Given the description of an element on the screen output the (x, y) to click on. 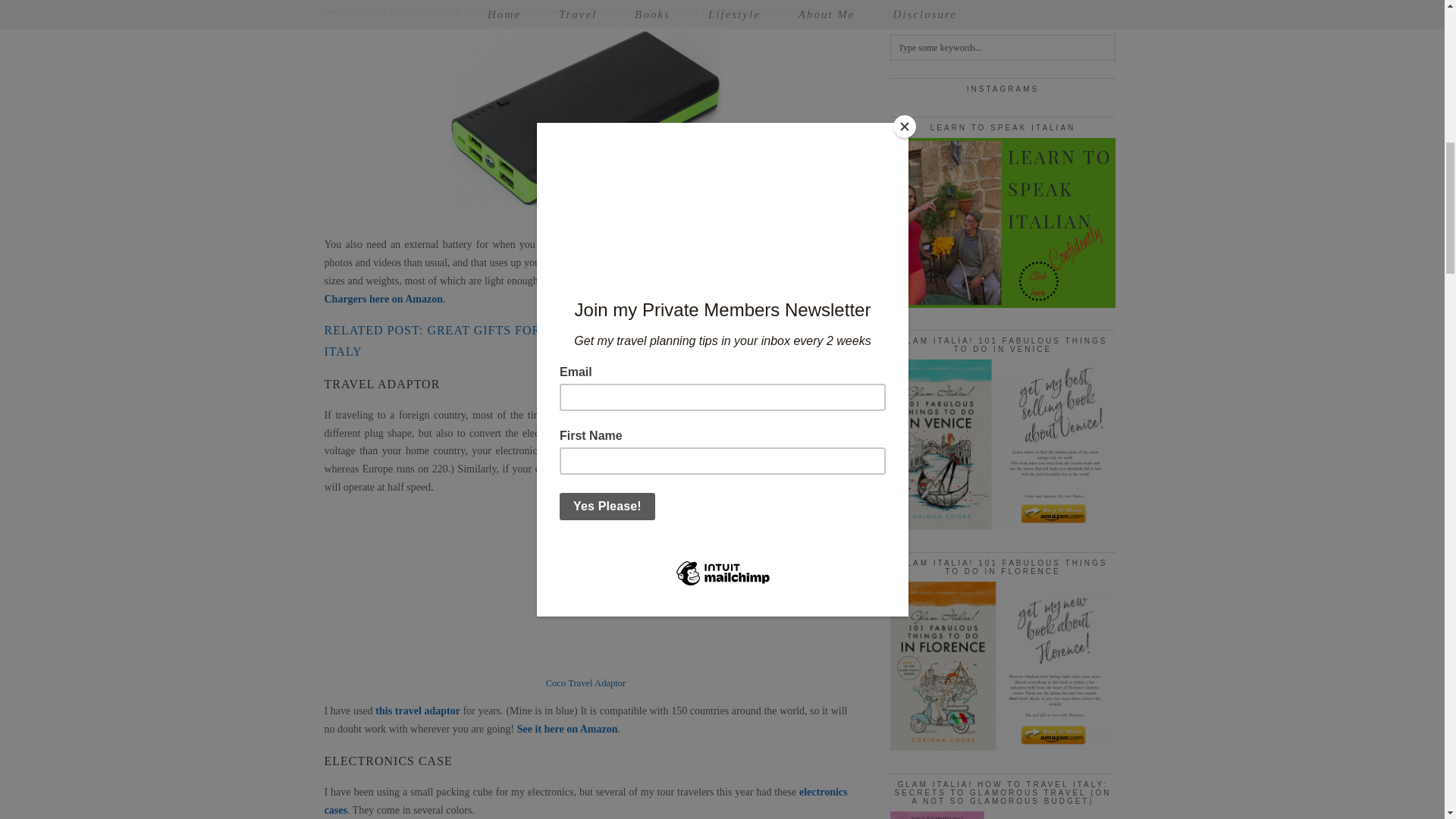
Portable Charger (585, 216)
Coco Travel Adaptor (586, 683)
See Portable Phone Chargers here on Amazon (585, 289)
Subscribe (1002, 3)
this travel adaptor (417, 710)
electronics cases (585, 800)
See it here on Amazon (566, 728)
